Given the description of an element on the screen output the (x, y) to click on. 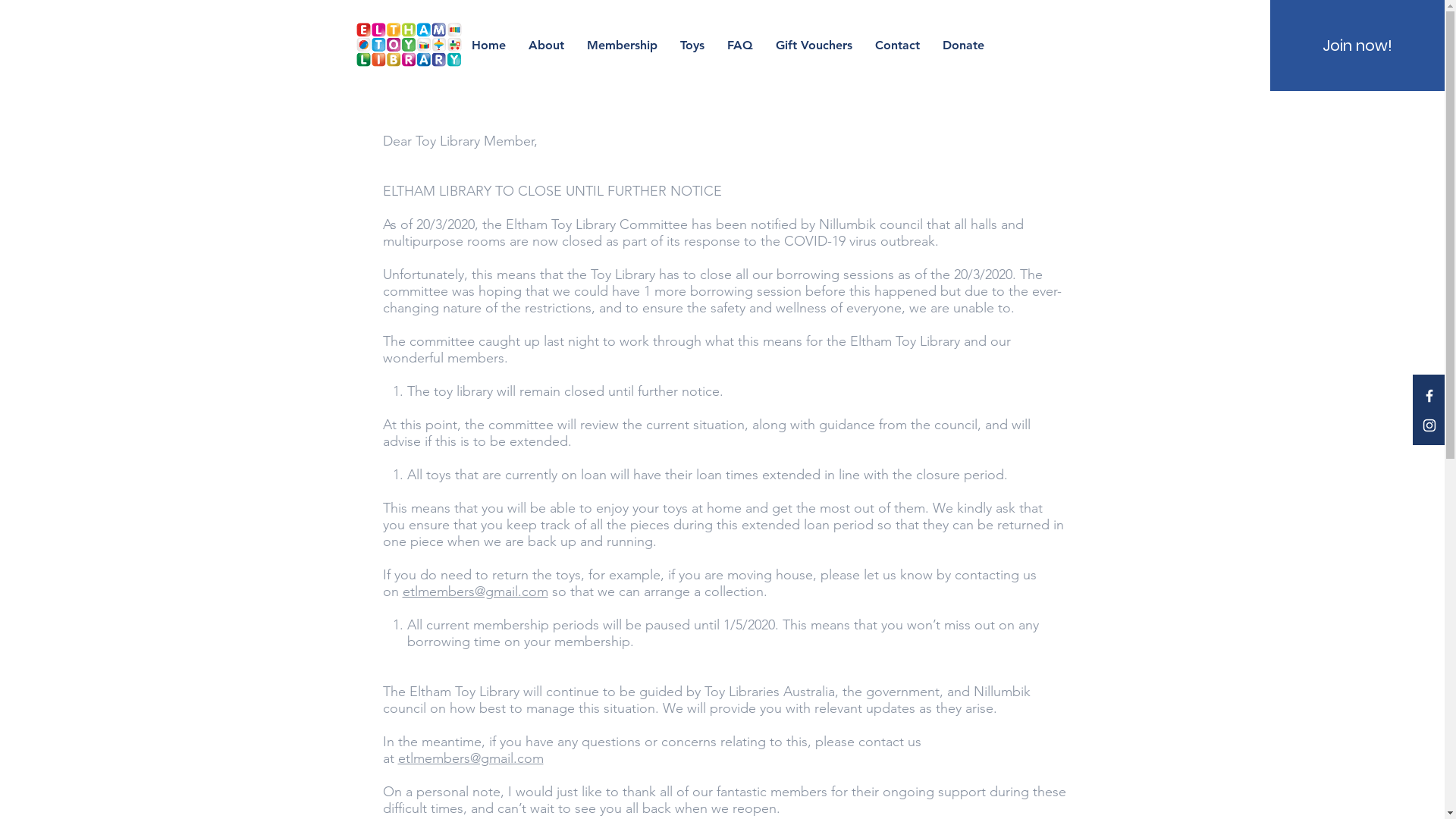
etlmembers@gmail.com Element type: text (469, 757)
Home Element type: text (488, 45)
Gift Vouchers Element type: text (813, 45)
etlmembers@gmail.com Element type: text (474, 591)
Join now! Element type: text (1357, 45)
About Element type: text (546, 45)
FAQ Element type: text (739, 45)
Donate Element type: text (963, 45)
Membership Element type: text (621, 45)
Toys Element type: text (691, 45)
Contact Element type: text (897, 45)
